Given the description of an element on the screen output the (x, y) to click on. 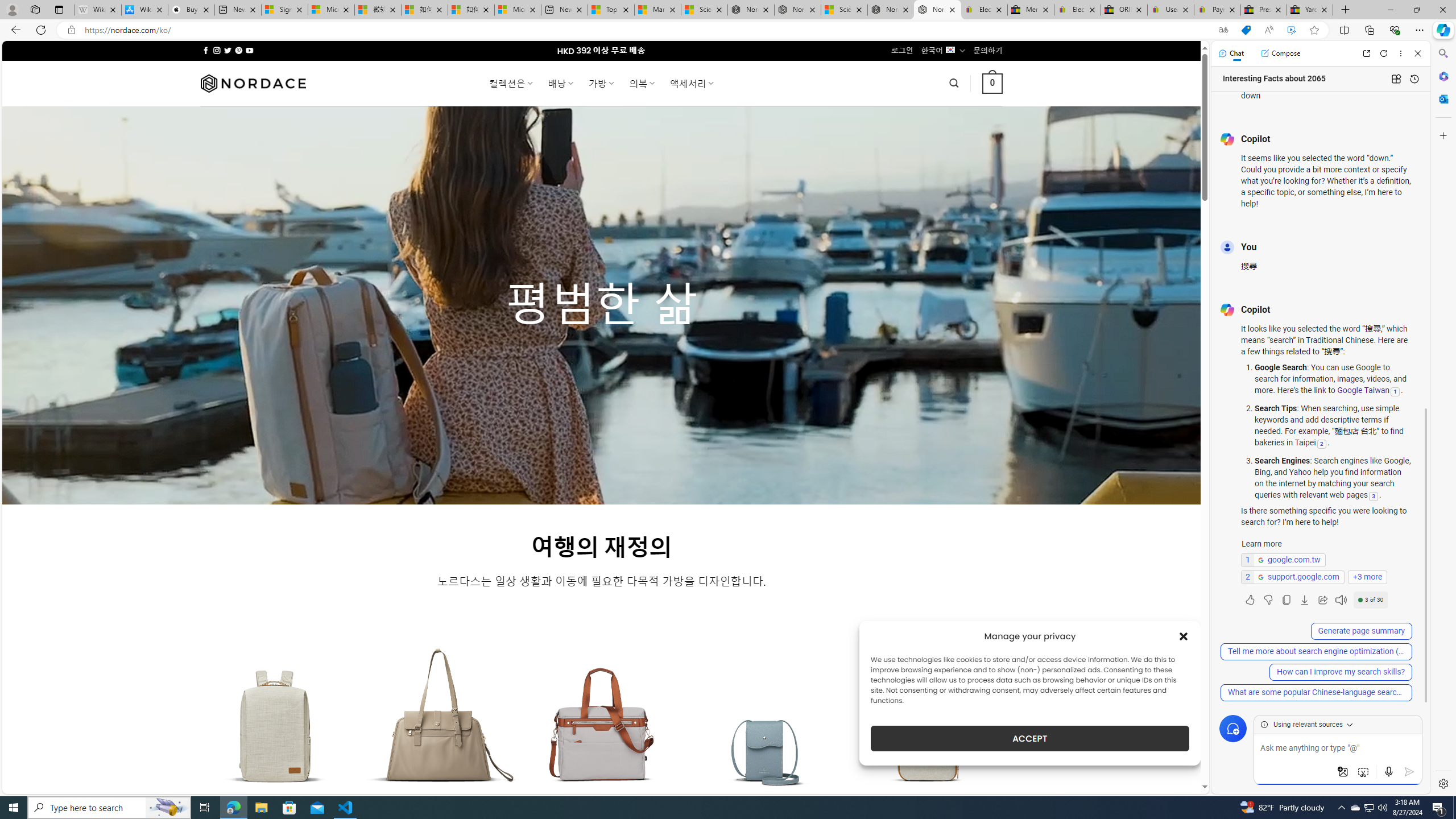
  0   (992, 83)
Minimize (1390, 9)
Marine life - MSN (656, 9)
Chat (1231, 52)
Microsoft Services Agreement (330, 9)
Follow on Facebook (205, 50)
ACCEPT (1029, 738)
Compose (1280, 52)
